Given the description of an element on the screen output the (x, y) to click on. 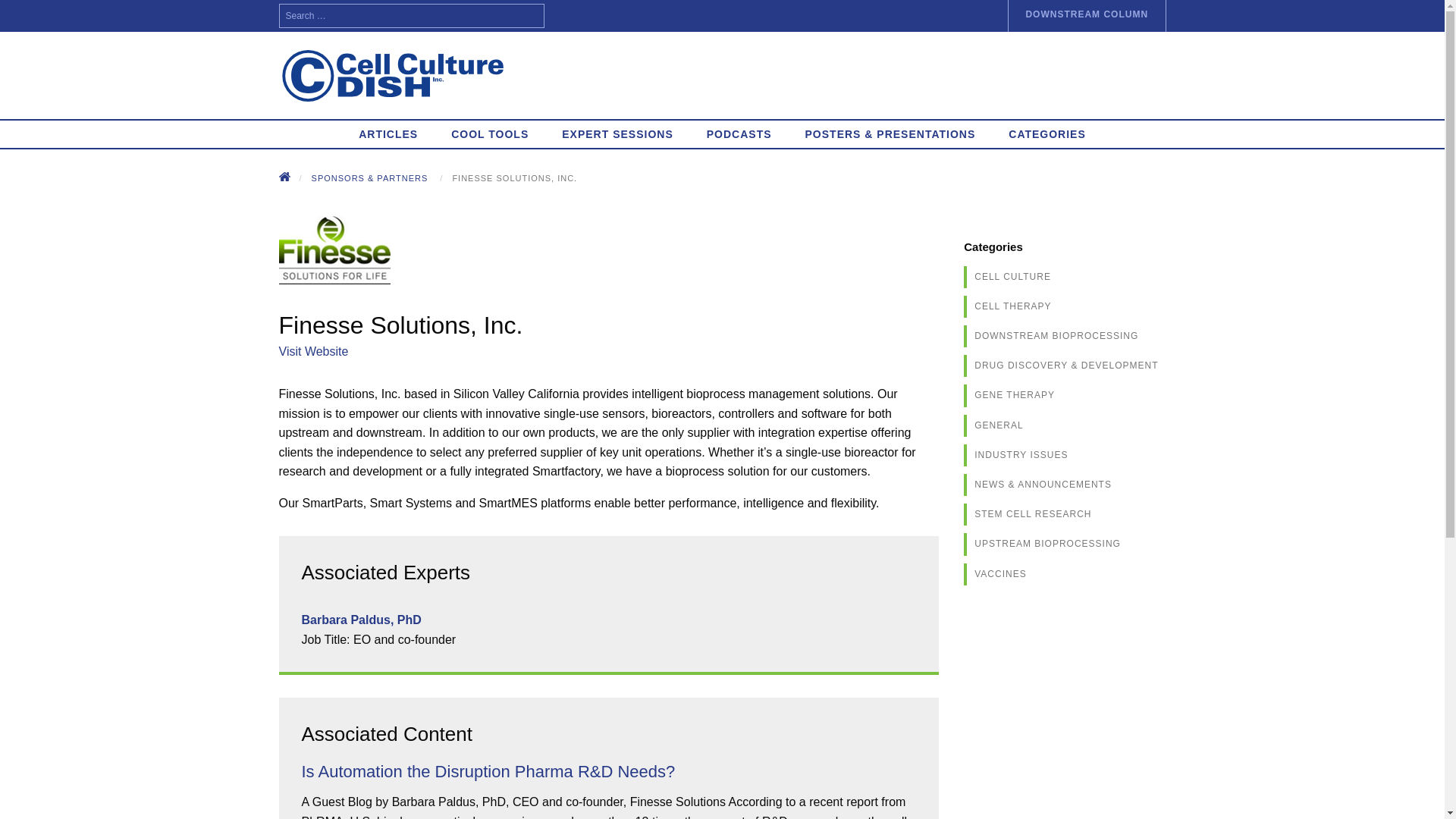
EXPERT SESSIONS (616, 134)
Finesse Solutions, Inc. (513, 177)
CATEGORIES (1046, 134)
Barbara Paldus, PhD (361, 619)
PODCASTS (739, 134)
Visit Website (314, 350)
ARTICLES (387, 134)
COOL TOOLS (488, 134)
DOWNSTREAM COLUMN (1086, 15)
